Given the description of an element on the screen output the (x, y) to click on. 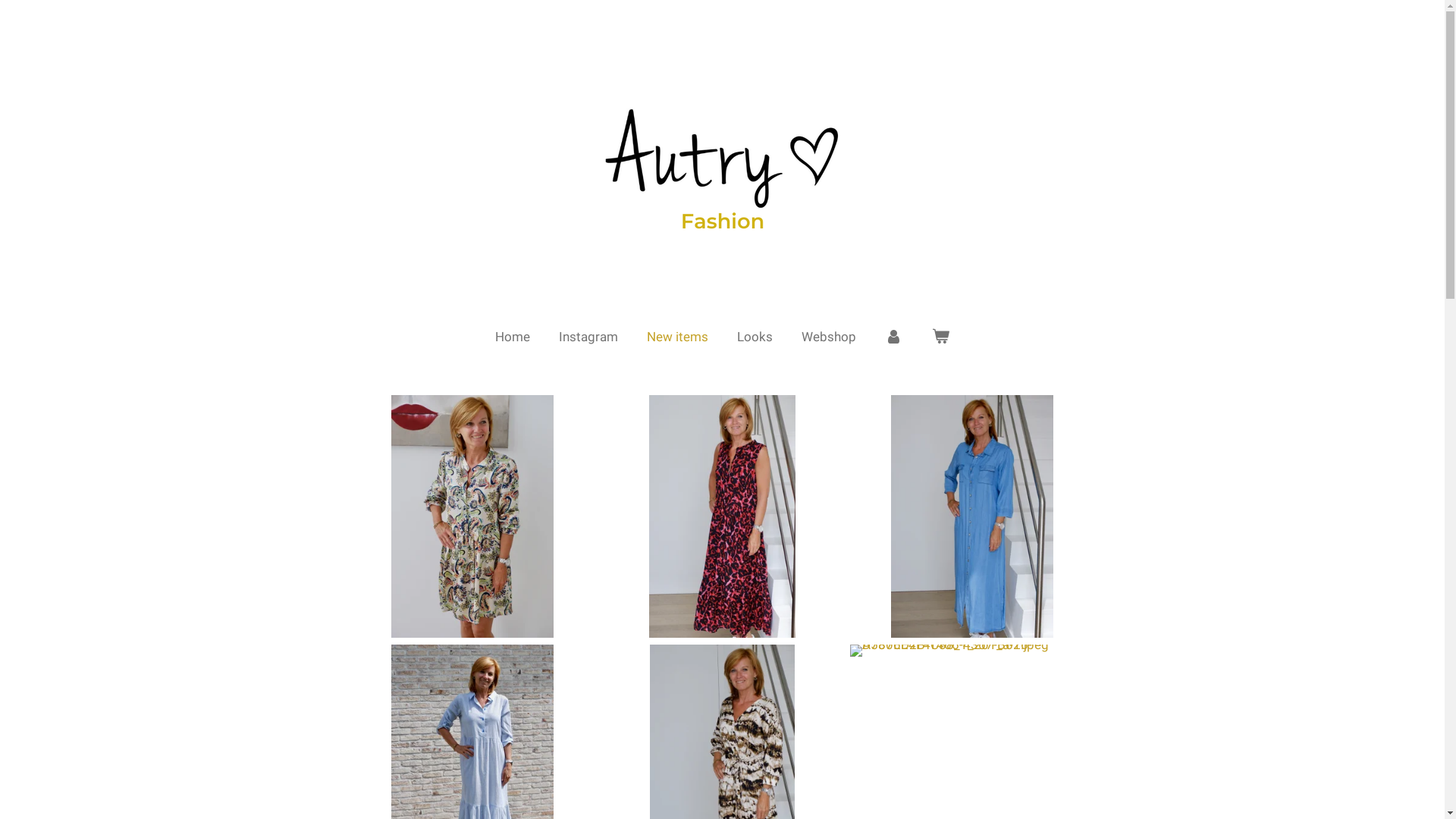
Instagram Element type: text (588, 336)
Webshop Element type: text (828, 336)
Looks Element type: text (754, 336)
New items Element type: text (677, 336)
Home Element type: text (512, 336)
Bekijk winkelwagen Element type: hover (940, 336)
Autry Fashion Element type: hover (722, 158)
Account Element type: hover (893, 336)
